Given the description of an element on the screen output the (x, y) to click on. 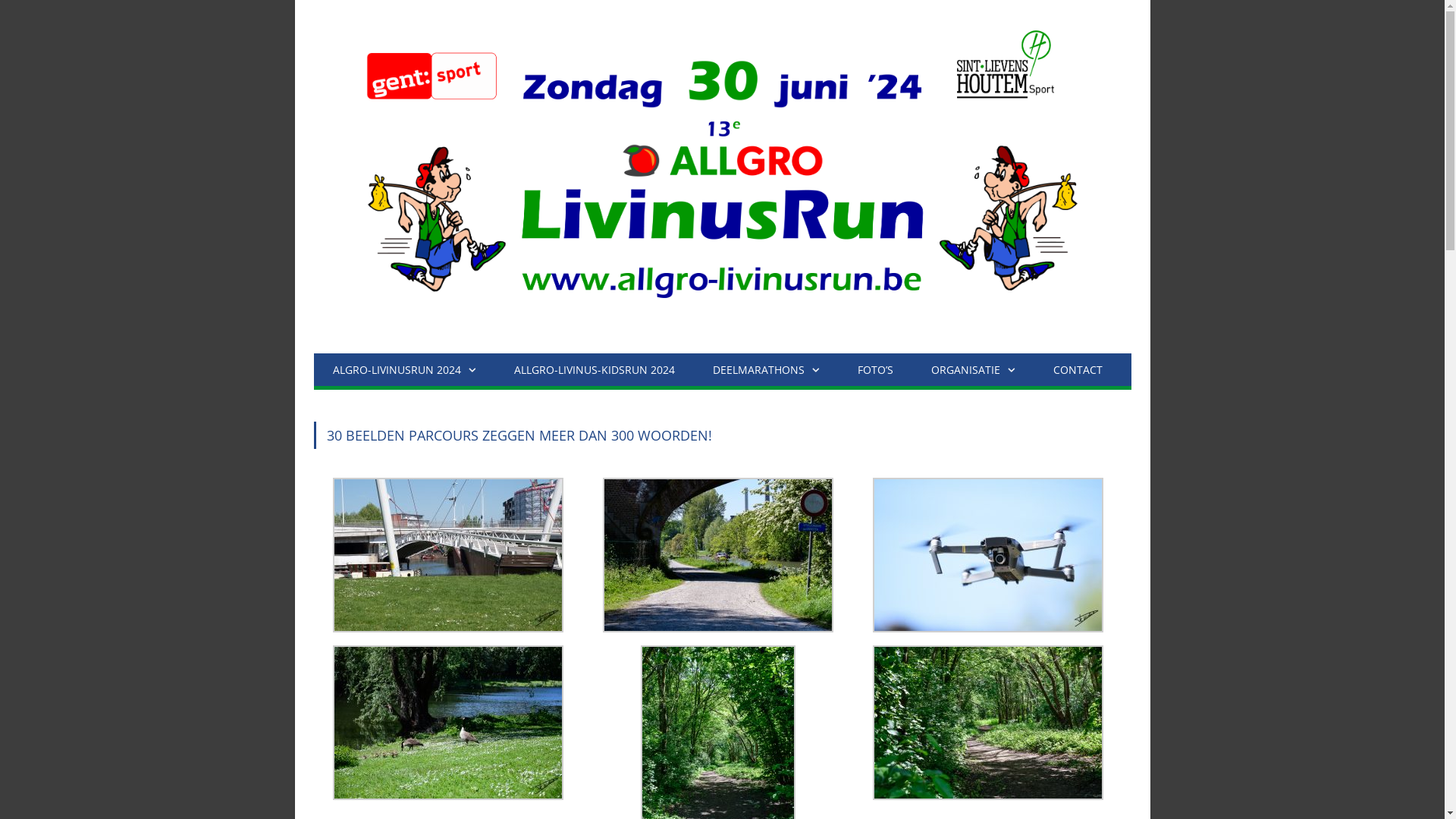
DEELMARATHONS Element type: text (765, 370)
Allgro Livinusrun Element type: hover (722, 172)
ALLGRO-LIVINUS-KIDSRUN 2024 Element type: text (593, 370)
ALGRO-LIVINUSRUN 2024 Element type: text (404, 370)
CONTACT Element type: text (1077, 370)
ORGANISATIE Element type: text (972, 370)
